Given the description of an element on the screen output the (x, y) to click on. 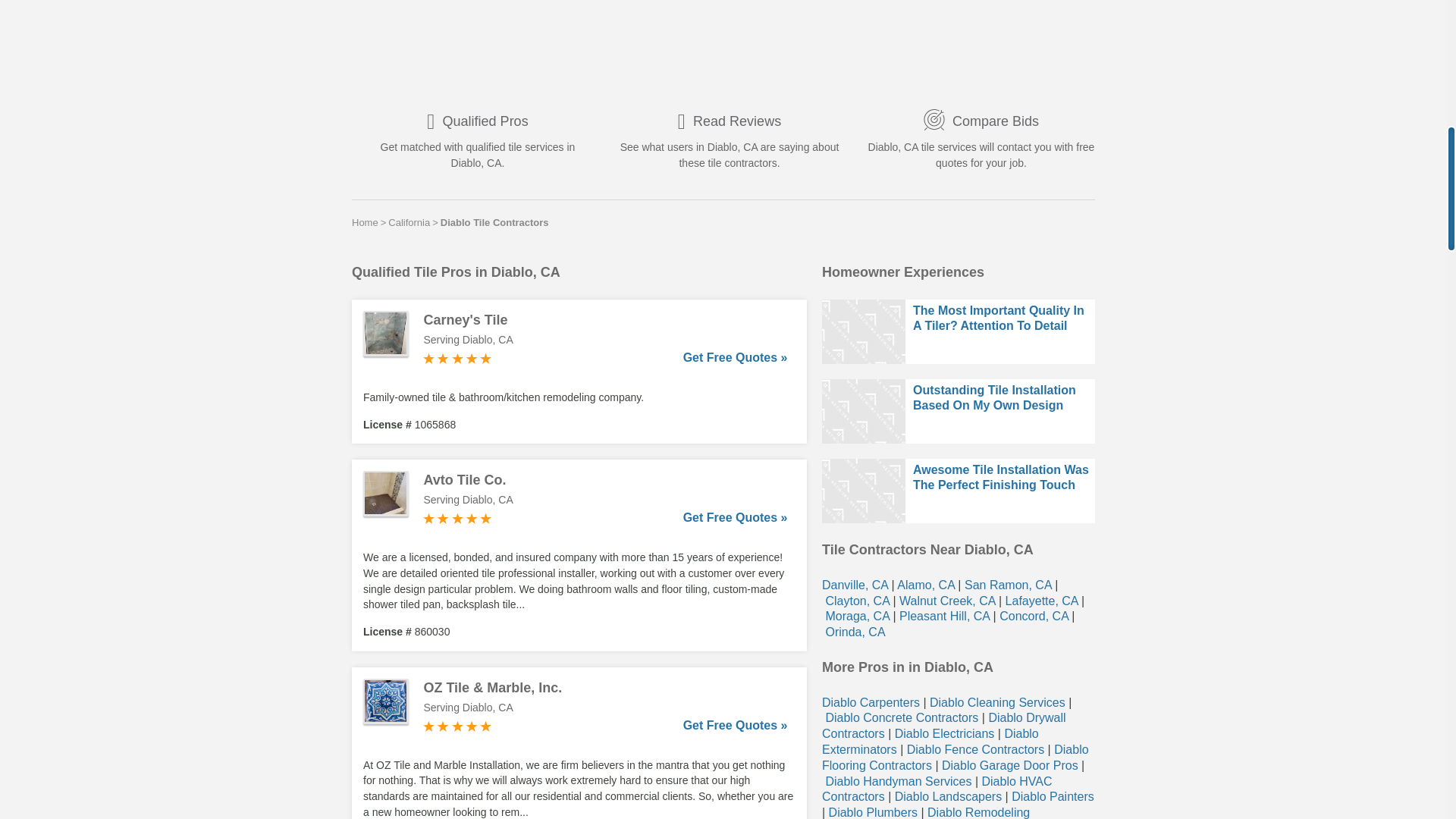
California (408, 222)
5 star rating (457, 726)
Carney's Tile (605, 320)
Home (365, 222)
5 star rating (457, 518)
5 star rating (457, 358)
